Given the description of an element on the screen output the (x, y) to click on. 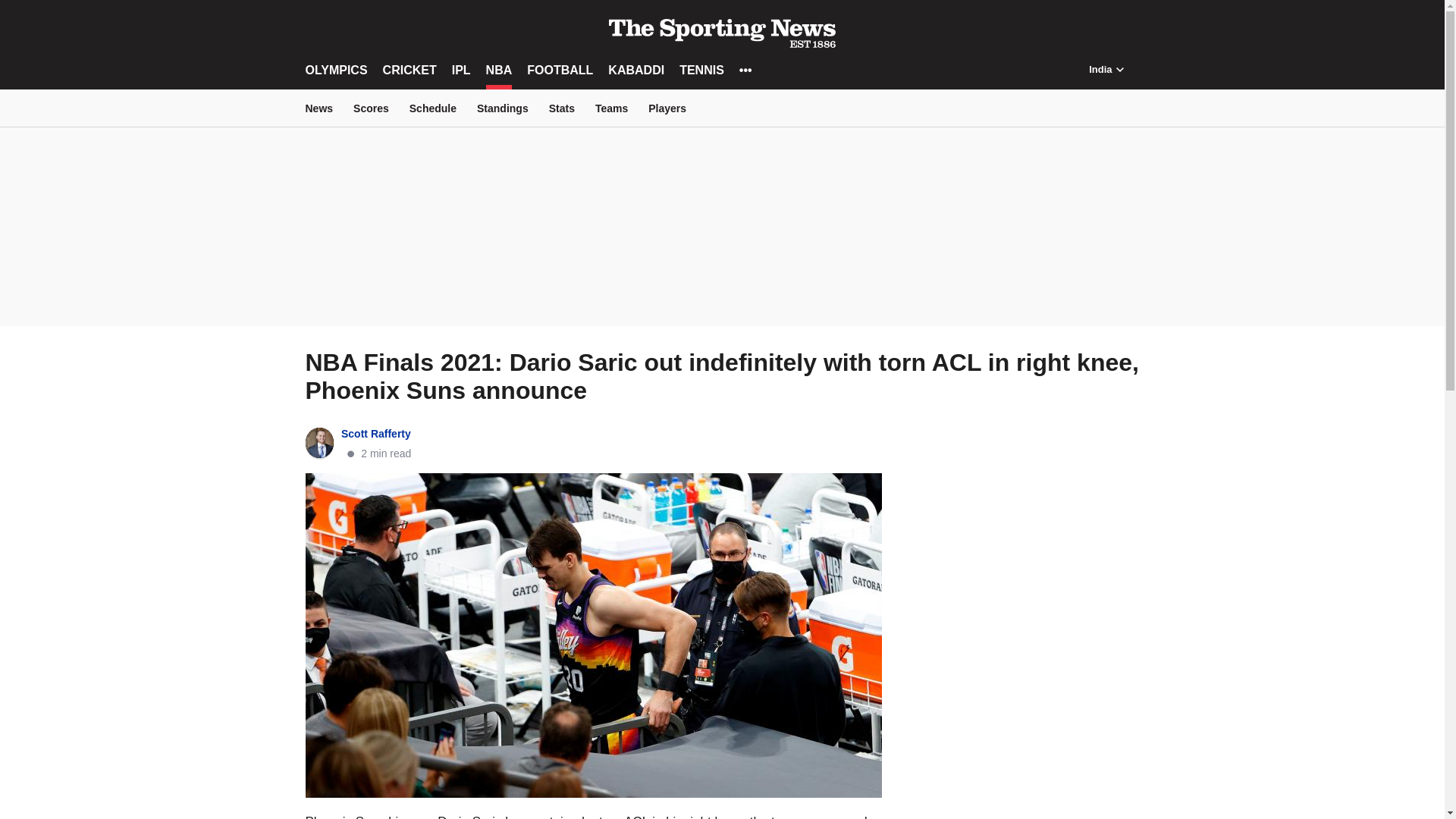
IPL (460, 70)
CRICKET (409, 70)
OLYMPICS (335, 70)
NBA (499, 70)
KABADDI (635, 70)
TENNIS (701, 70)
FOOTBALL (559, 70)
